Given the description of an element on the screen output the (x, y) to click on. 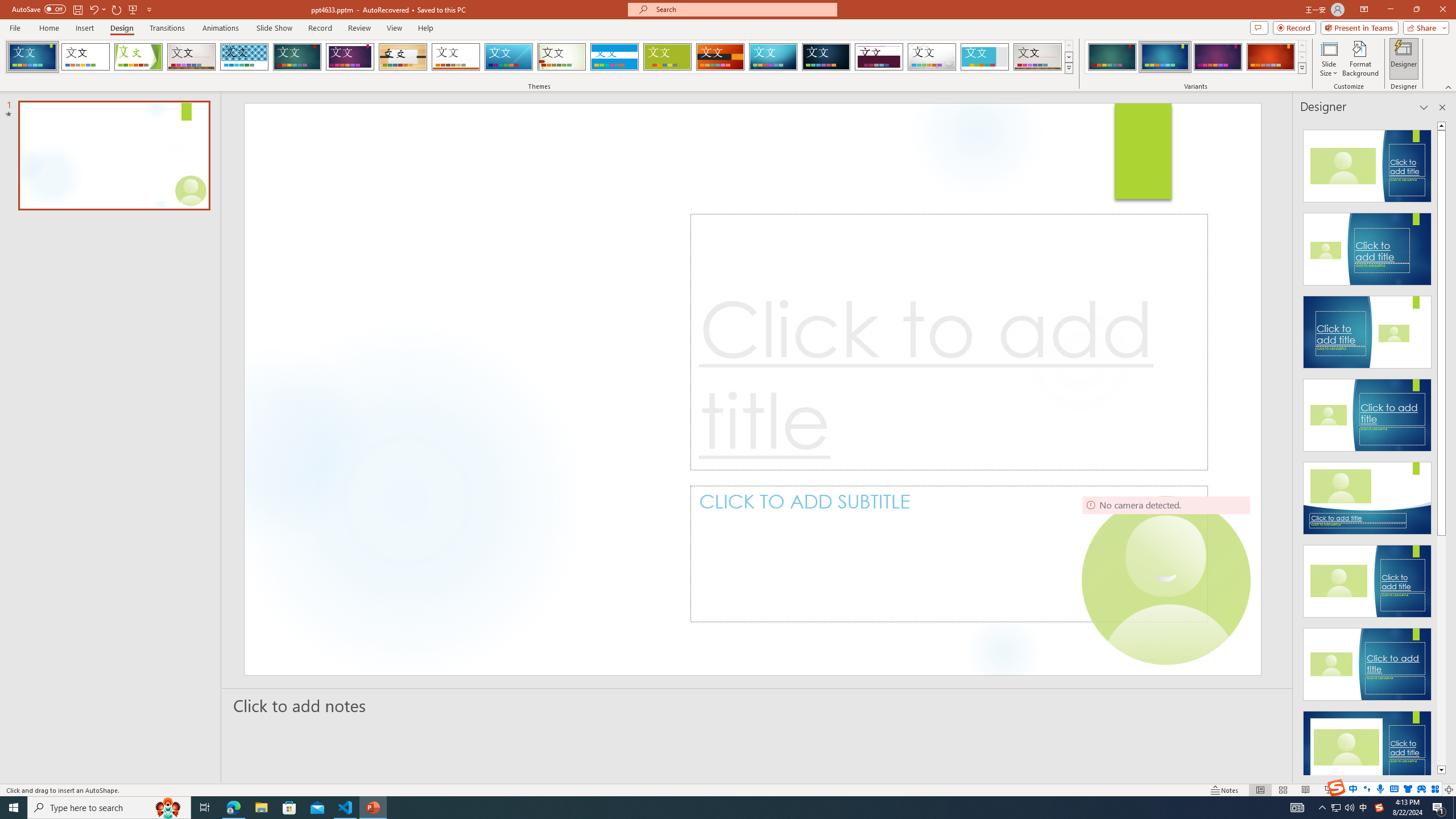
Basis Loading Preview... (667, 56)
Save (77, 9)
Collapse the Ribbon (1448, 86)
Notes  (1225, 790)
Slice Loading Preview... (508, 56)
Line up (1441, 125)
File Tab (15, 27)
Variants (1301, 67)
Design (122, 28)
Review (359, 28)
